Given the description of an element on the screen output the (x, y) to click on. 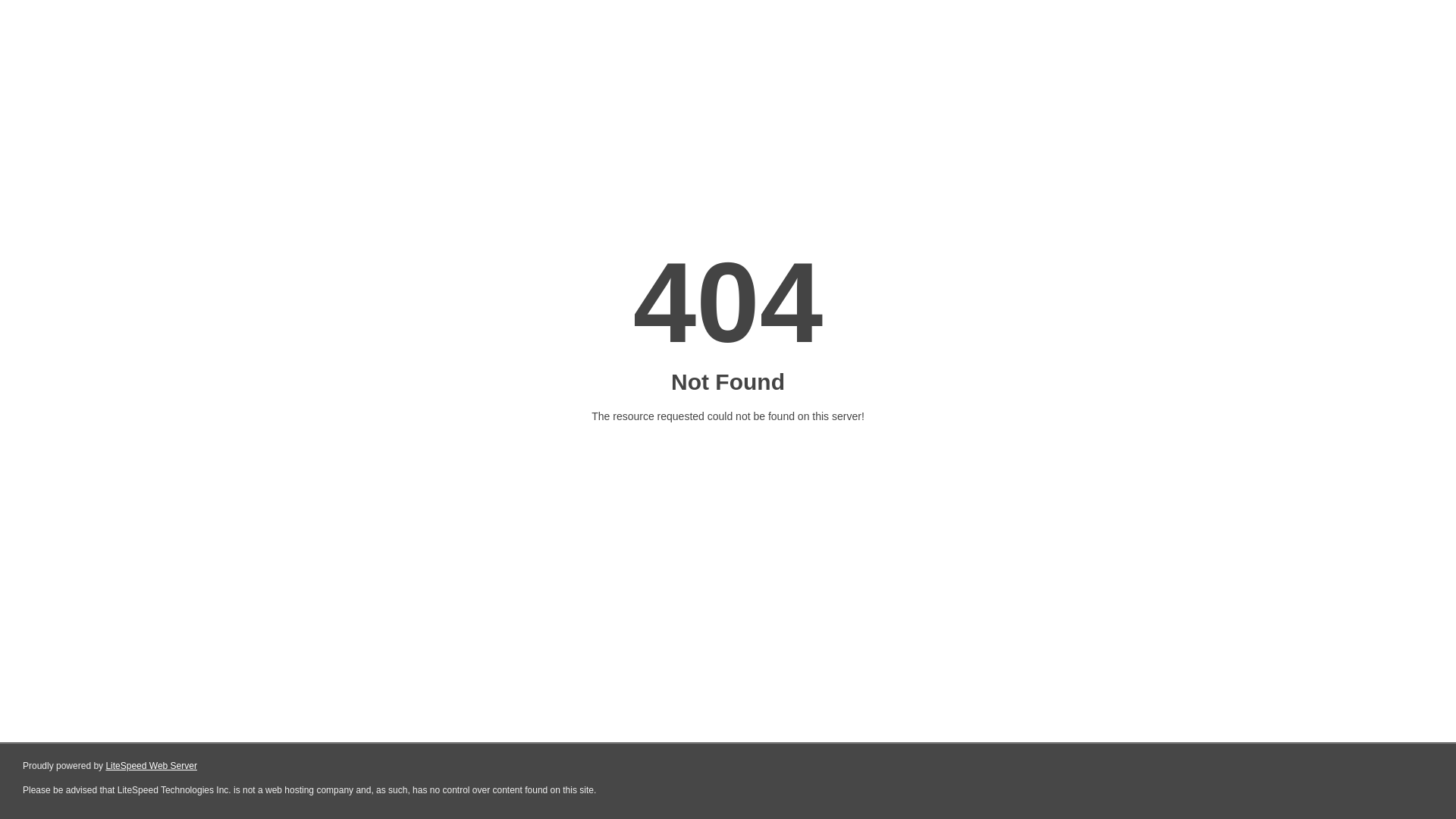
LiteSpeed Web Server Element type: text (151, 765)
